Given the description of an element on the screen output the (x, y) to click on. 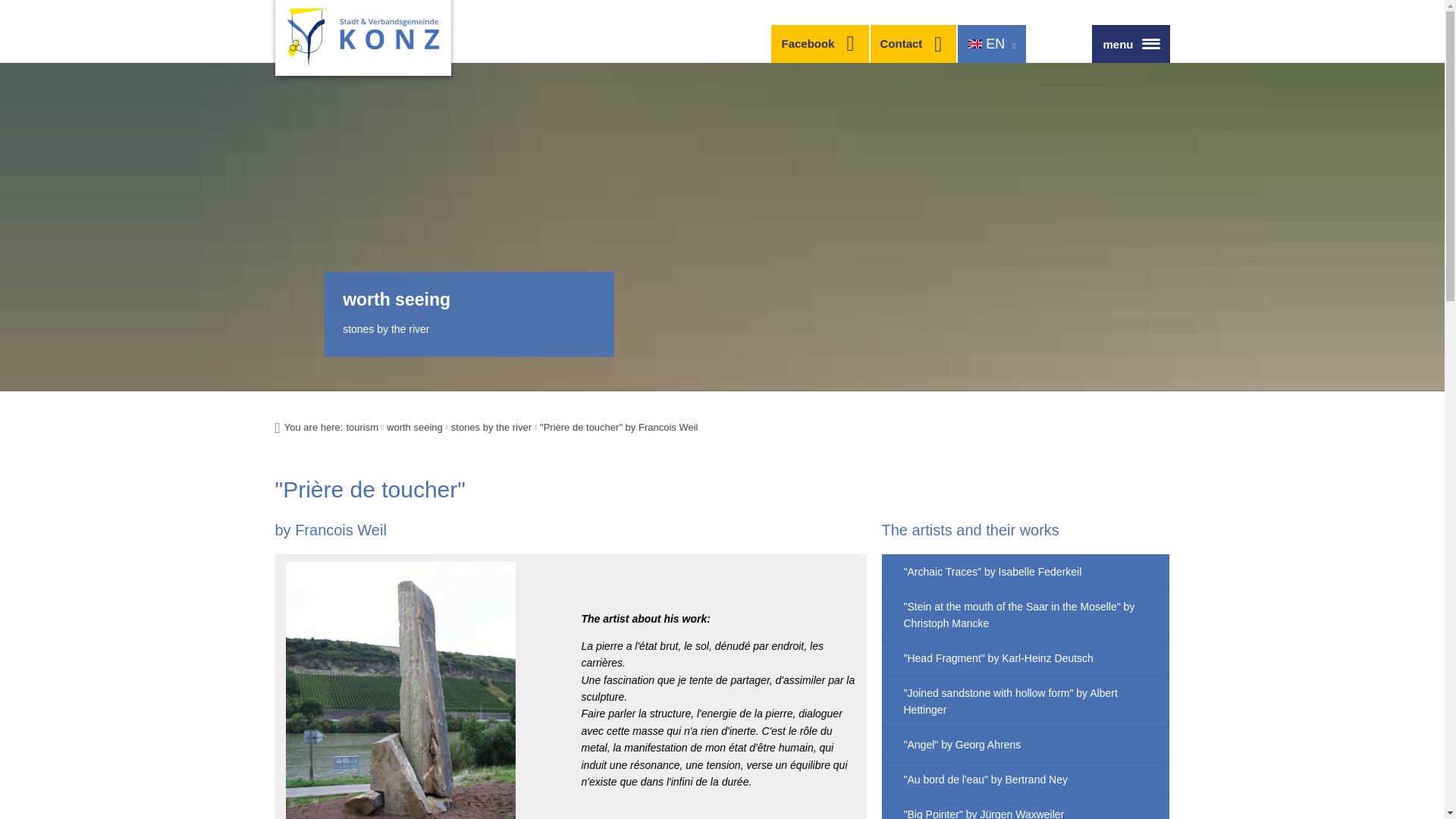
Back to home page (362, 38)
Jump to "Contact" webpage (913, 44)
